Given the description of an element on the screen output the (x, y) to click on. 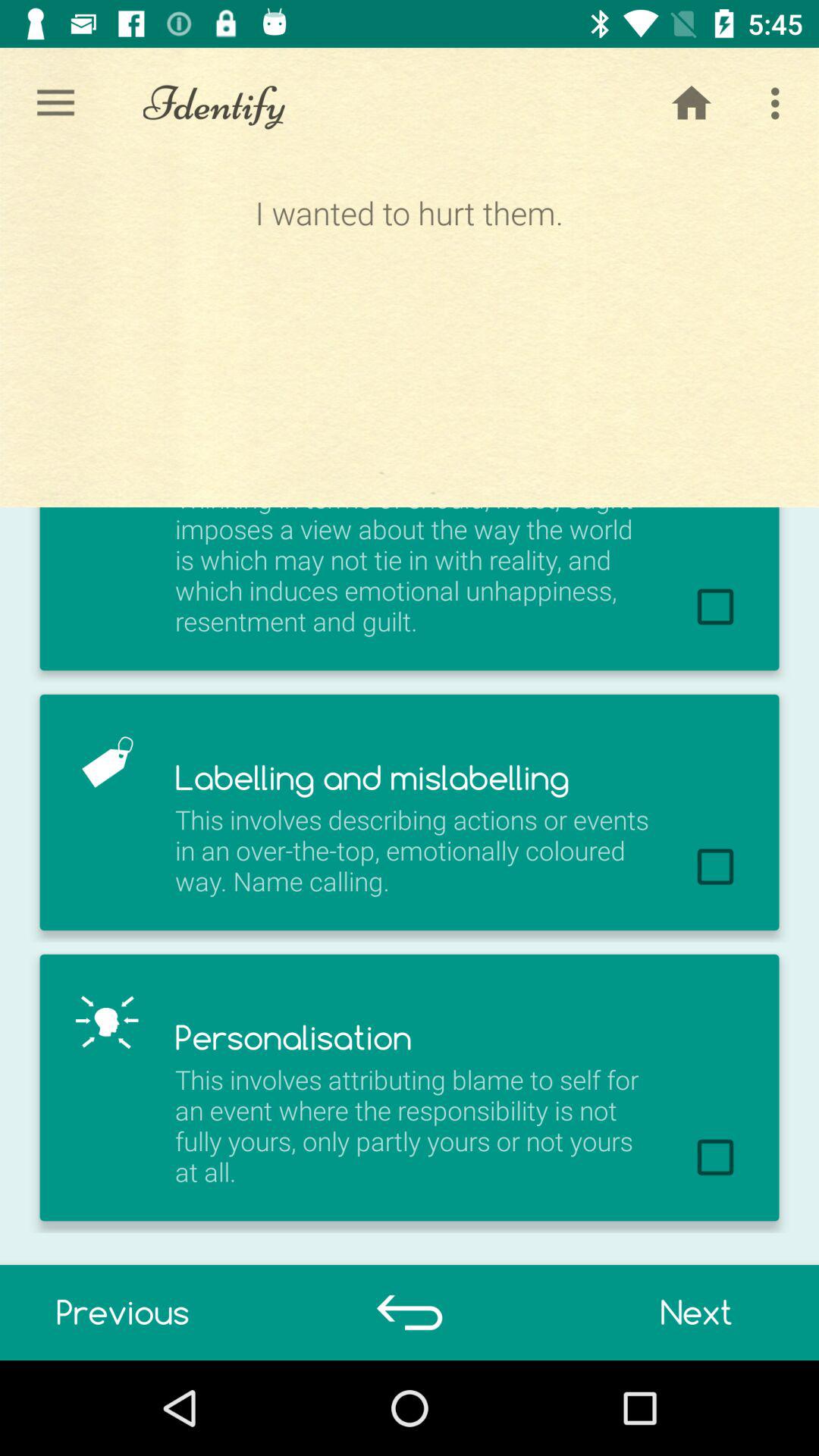
click the item above the thinking in terms icon (409, 333)
